Given the description of an element on the screen output the (x, y) to click on. 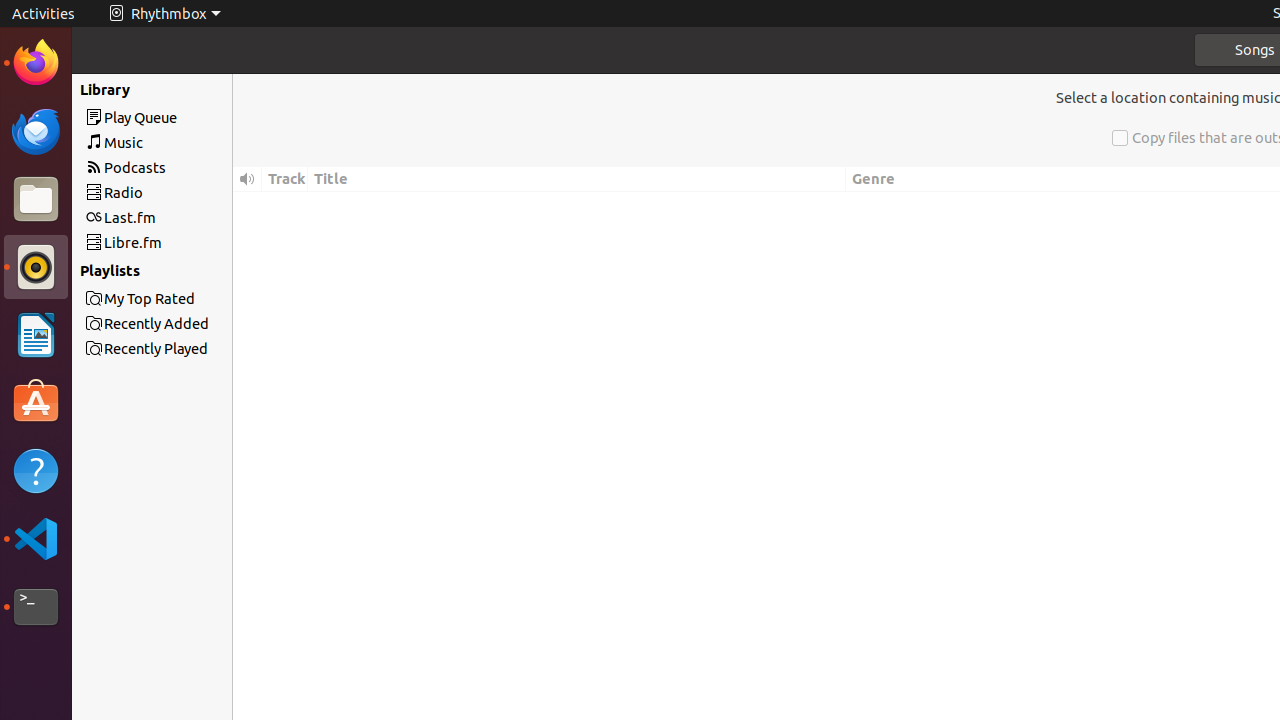
Trash Element type: label (133, 191)
Firefox Web Browser Element type: push-button (36, 63)
Recently Added Element type: table-cell (188, 323)
